Given the description of an element on the screen output the (x, y) to click on. 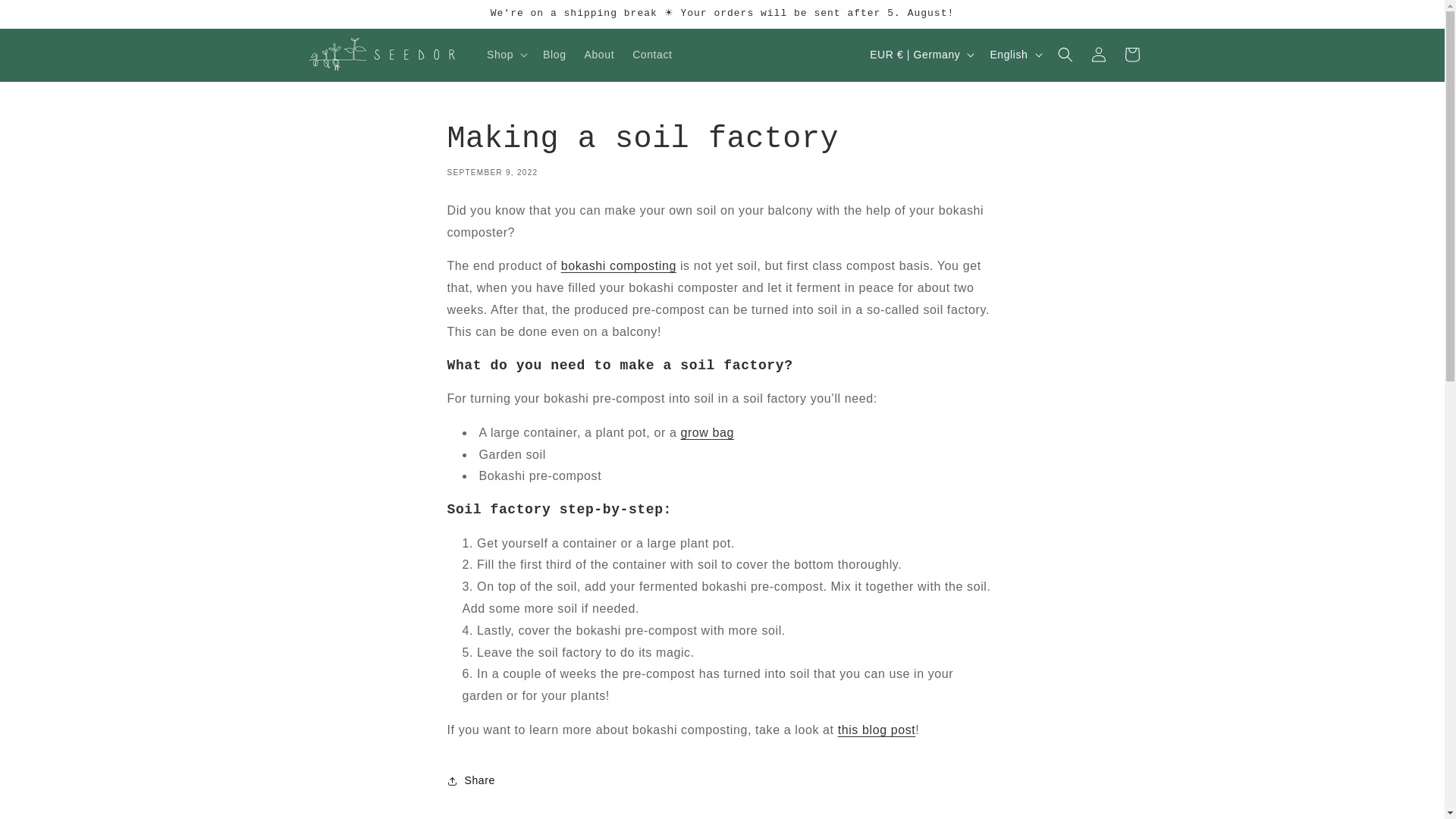
Skip to content (45, 17)
